Given the description of an element on the screen output the (x, y) to click on. 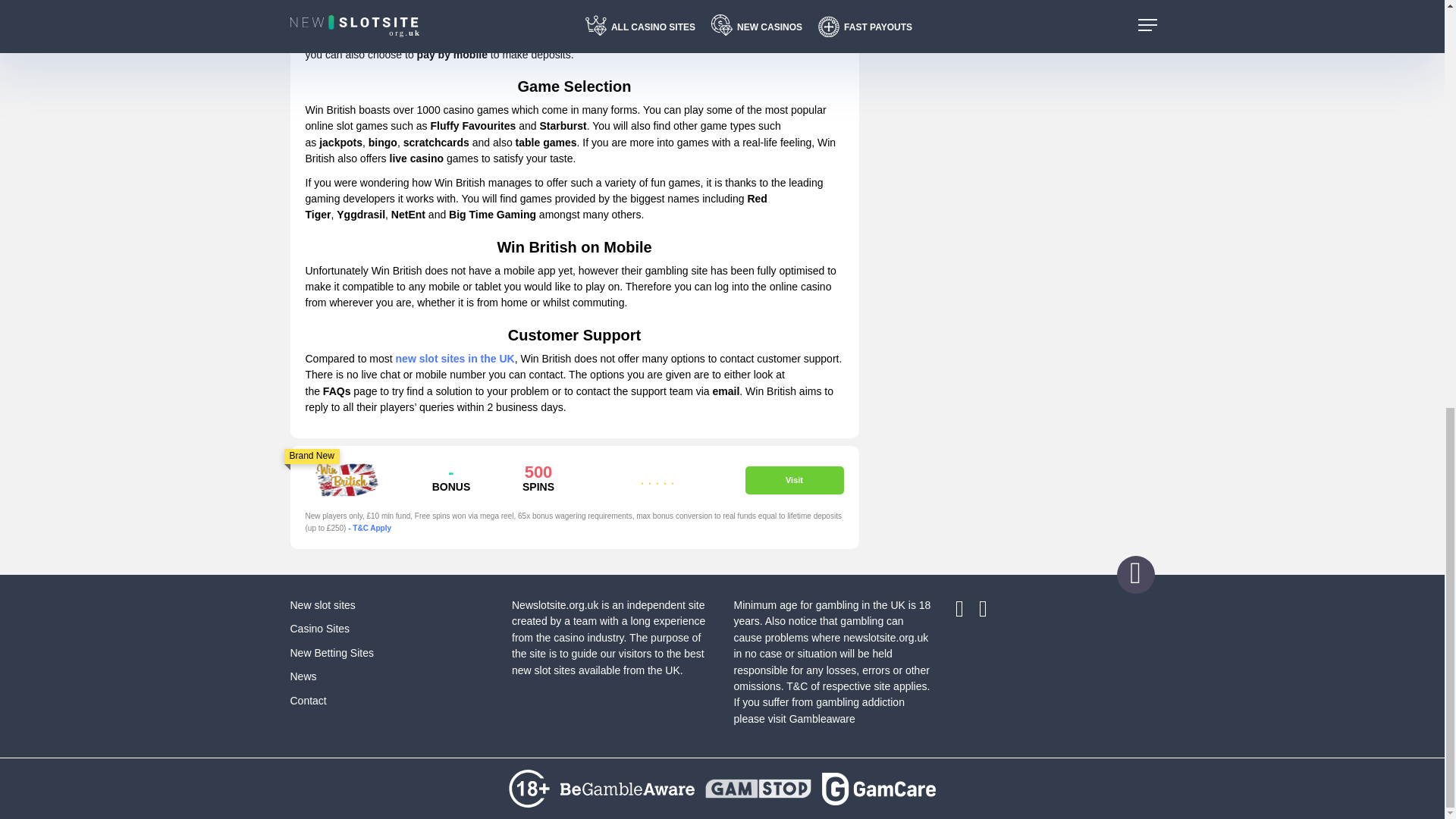
new casinos (728, 5)
Facebook (966, 612)
New slot sites (322, 604)
Contact (307, 700)
New Betting Sites (331, 653)
Gambleaware (822, 718)
Casino Sites (319, 628)
new slot sites in the UK (455, 358)
News (302, 676)
Visit (793, 480)
